Given the description of an element on the screen output the (x, y) to click on. 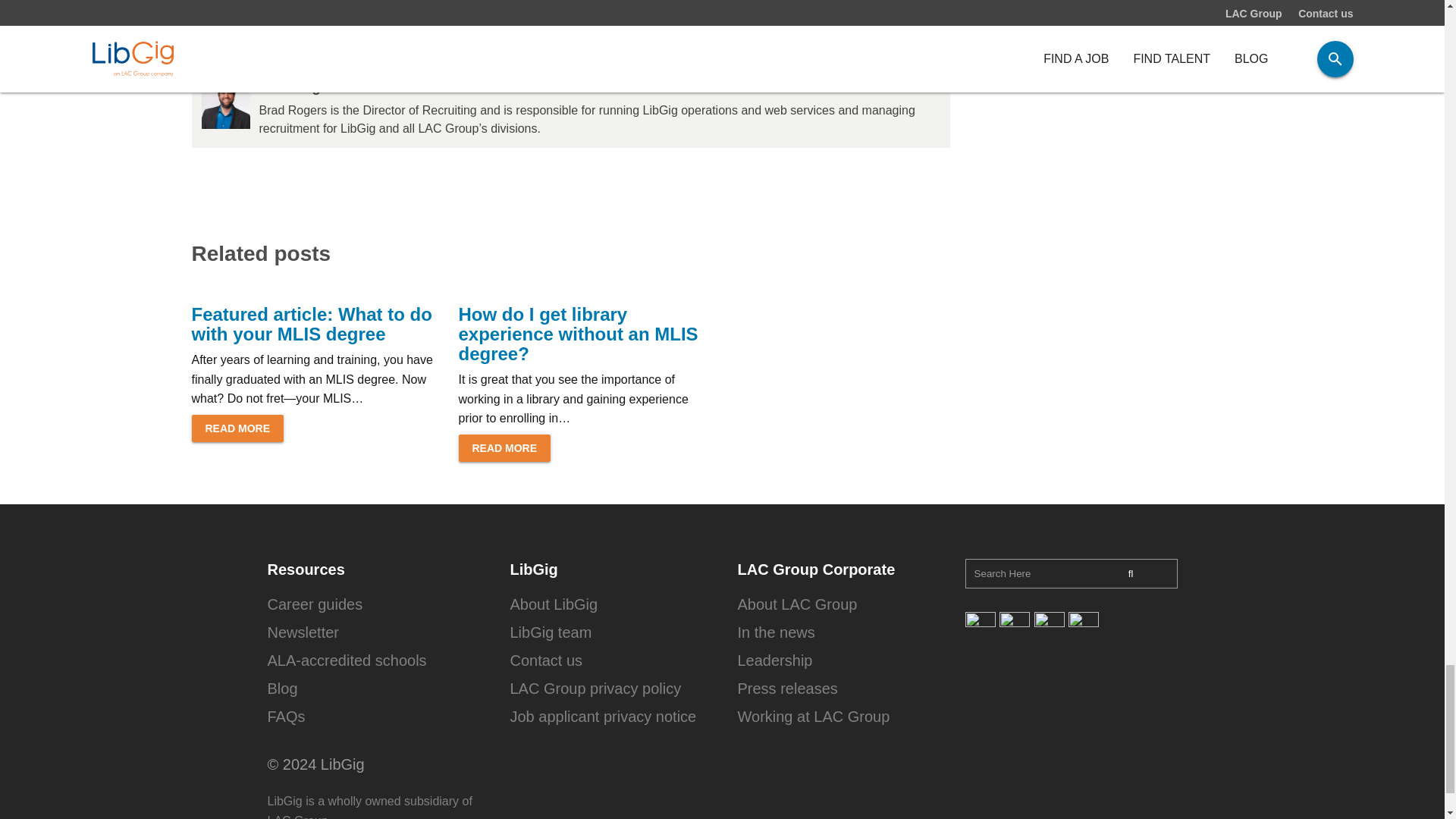
LinkedIn (274, 57)
Bio (212, 57)
Latest Posts (355, 57)
